Given the description of an element on the screen output the (x, y) to click on. 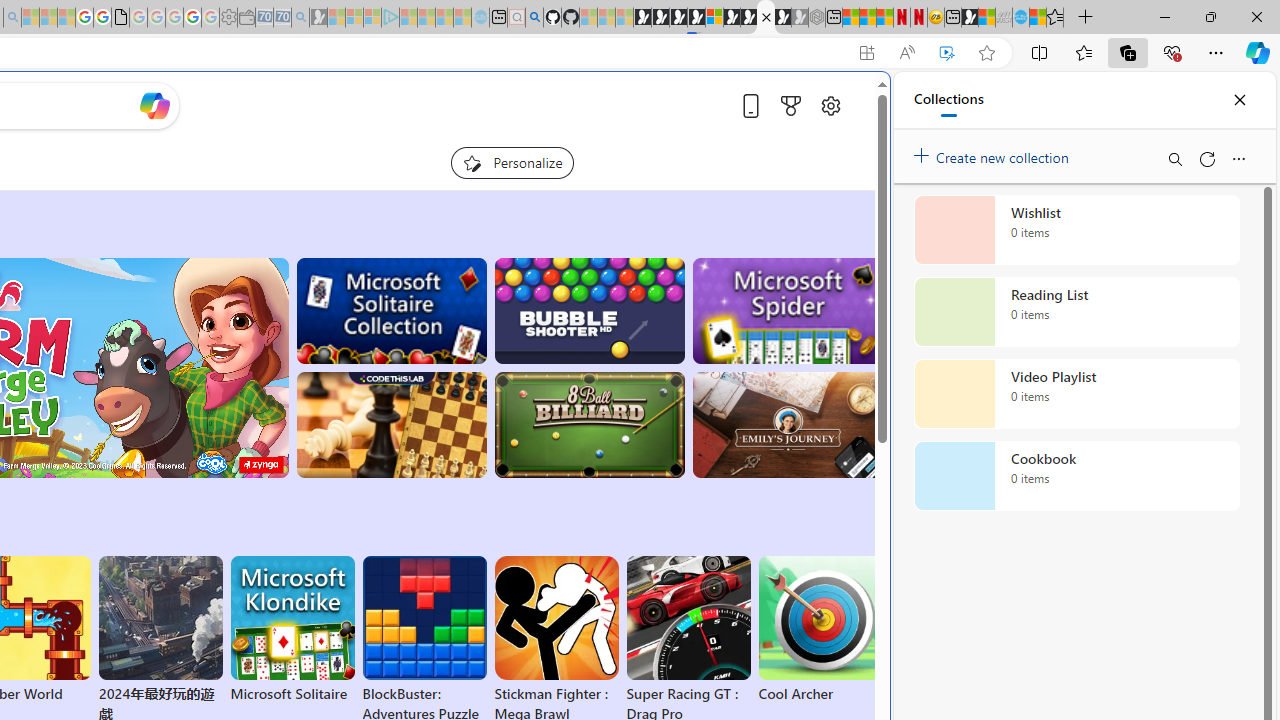
Cookbook collection, 0 items (1076, 475)
World - MSN (986, 17)
Create new collection (994, 153)
Bubble Shooter HD (589, 310)
Emily's Journey (787, 425)
Master Chess (390, 425)
